Given the description of an element on the screen output the (x, y) to click on. 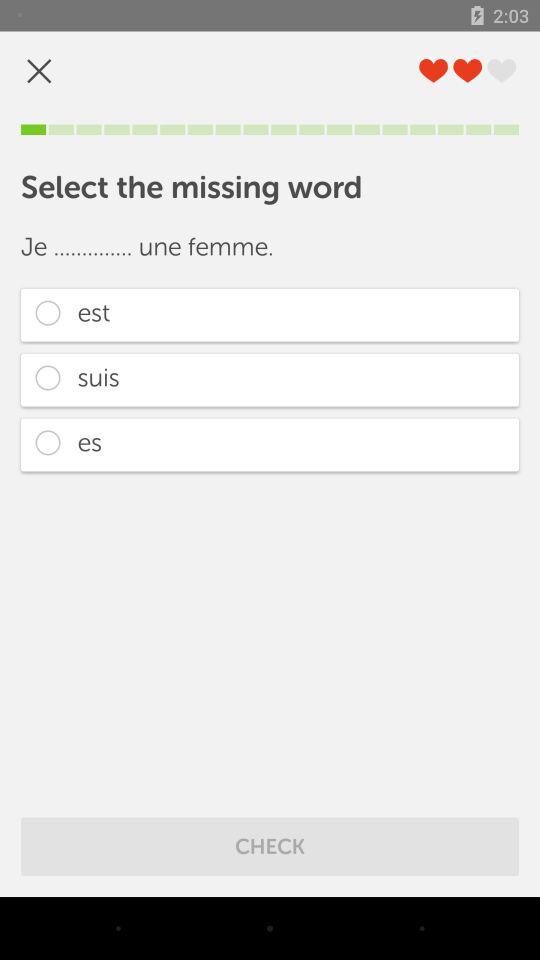
swipe to the check icon (270, 846)
